Given the description of an element on the screen output the (x, y) to click on. 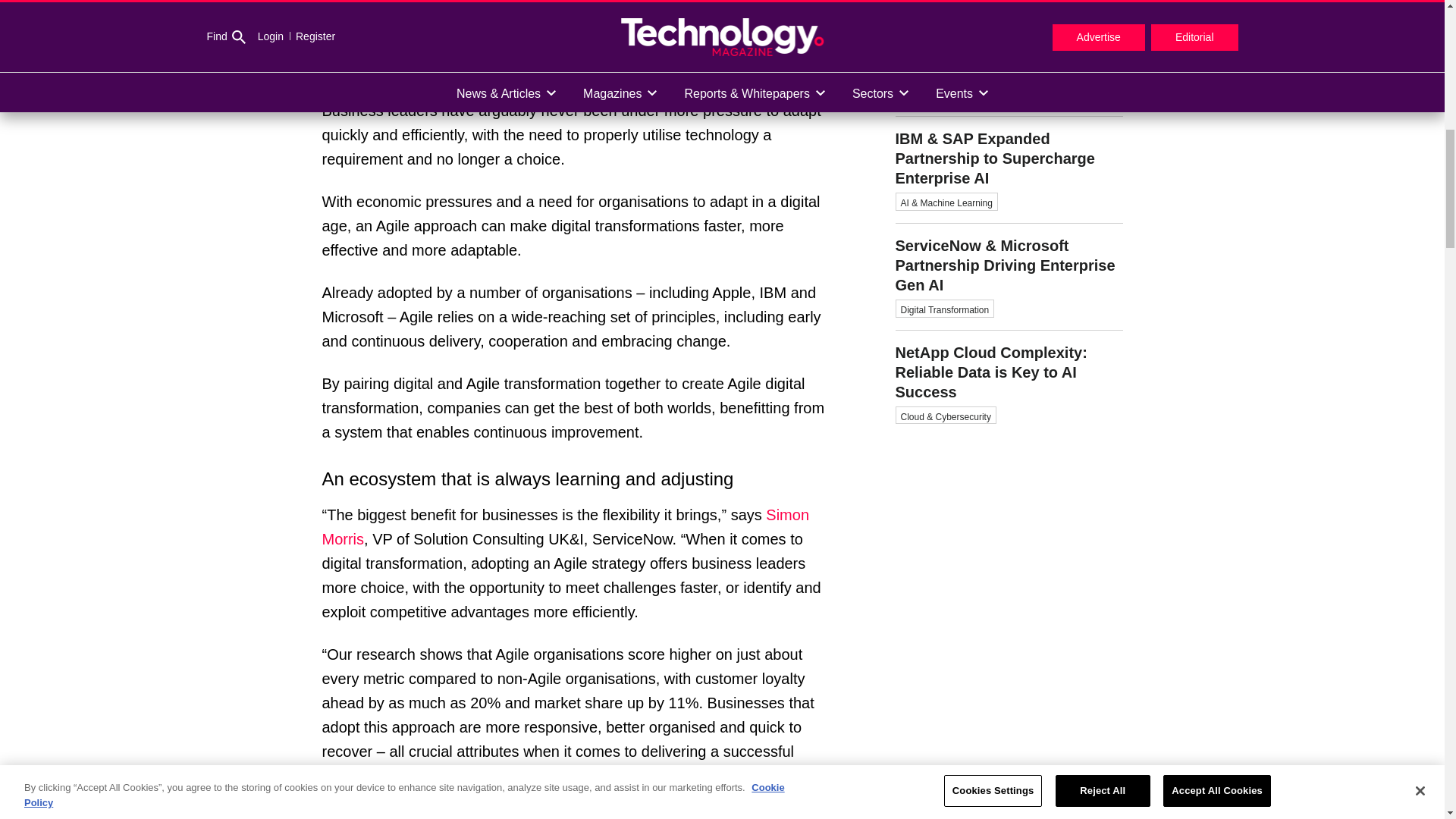
3rd party ad content (1008, 630)
